Given the description of an element on the screen output the (x, y) to click on. 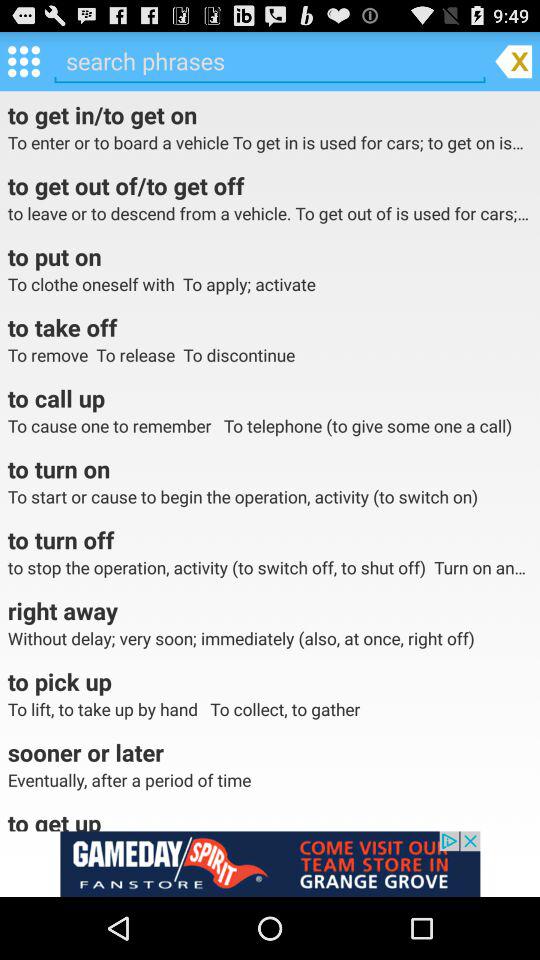
view more options (23, 60)
